Given the description of an element on the screen output the (x, y) to click on. 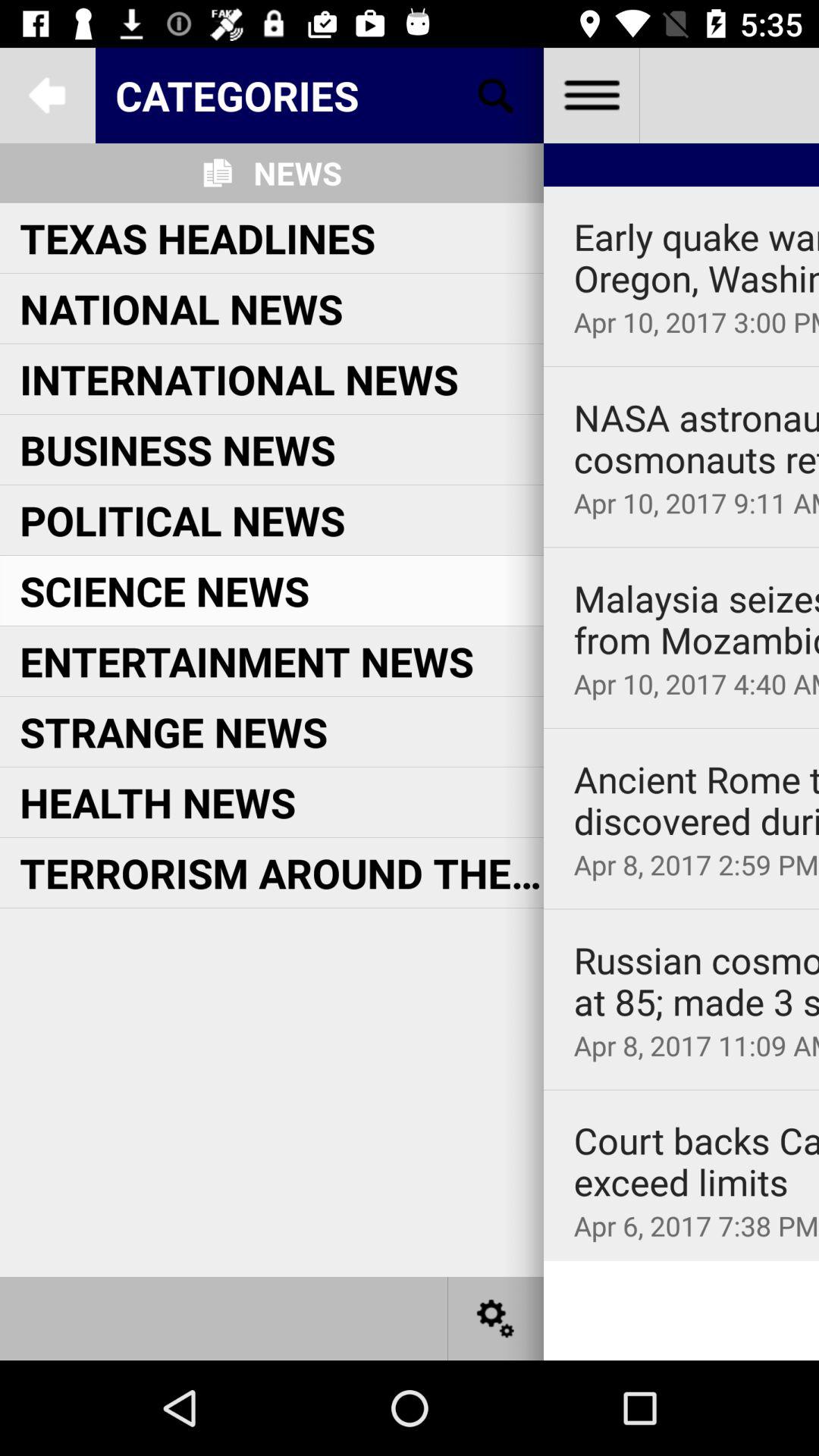
scroll to the texas headlines icon (197, 237)
